Given the description of an element on the screen output the (x, y) to click on. 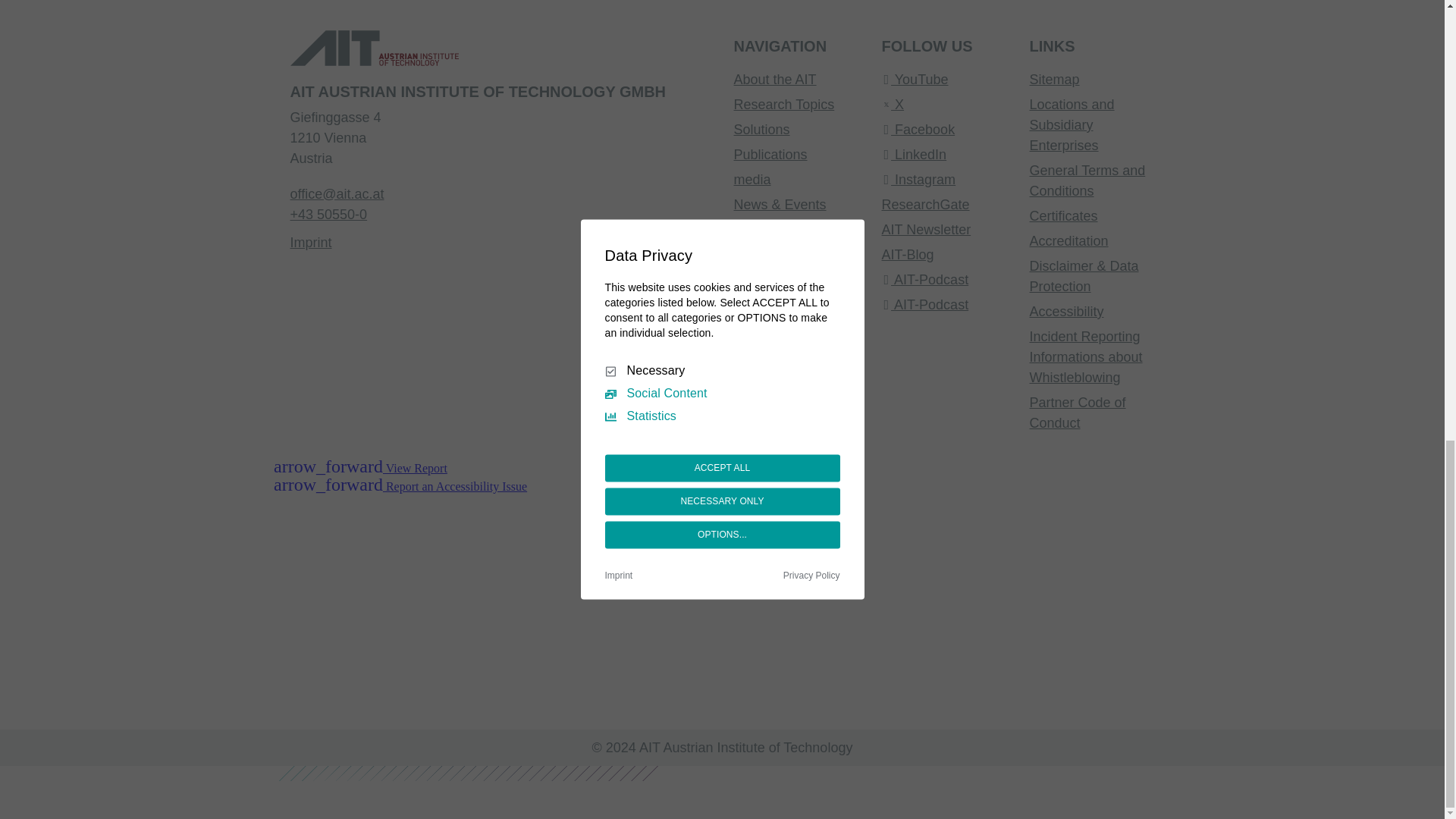
AIT - Austrian Institute Of Technology (365, 53)
WACA Zertifikat (482, 592)
